Given the description of an element on the screen output the (x, y) to click on. 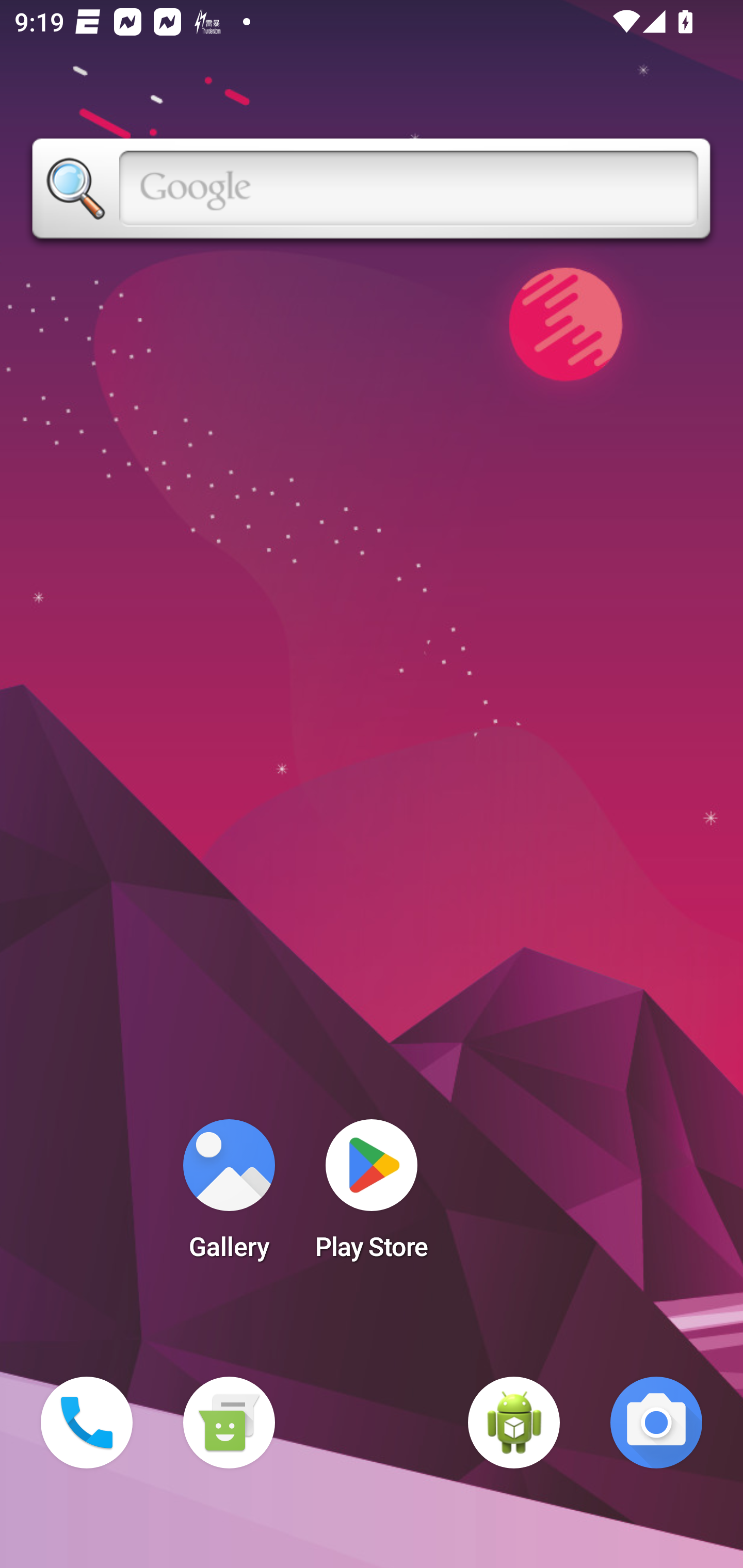
Gallery (228, 1195)
Play Store (371, 1195)
Phone (86, 1422)
Messaging (228, 1422)
WebView Browser Tester (513, 1422)
Camera (656, 1422)
